Given the description of an element on the screen output the (x, y) to click on. 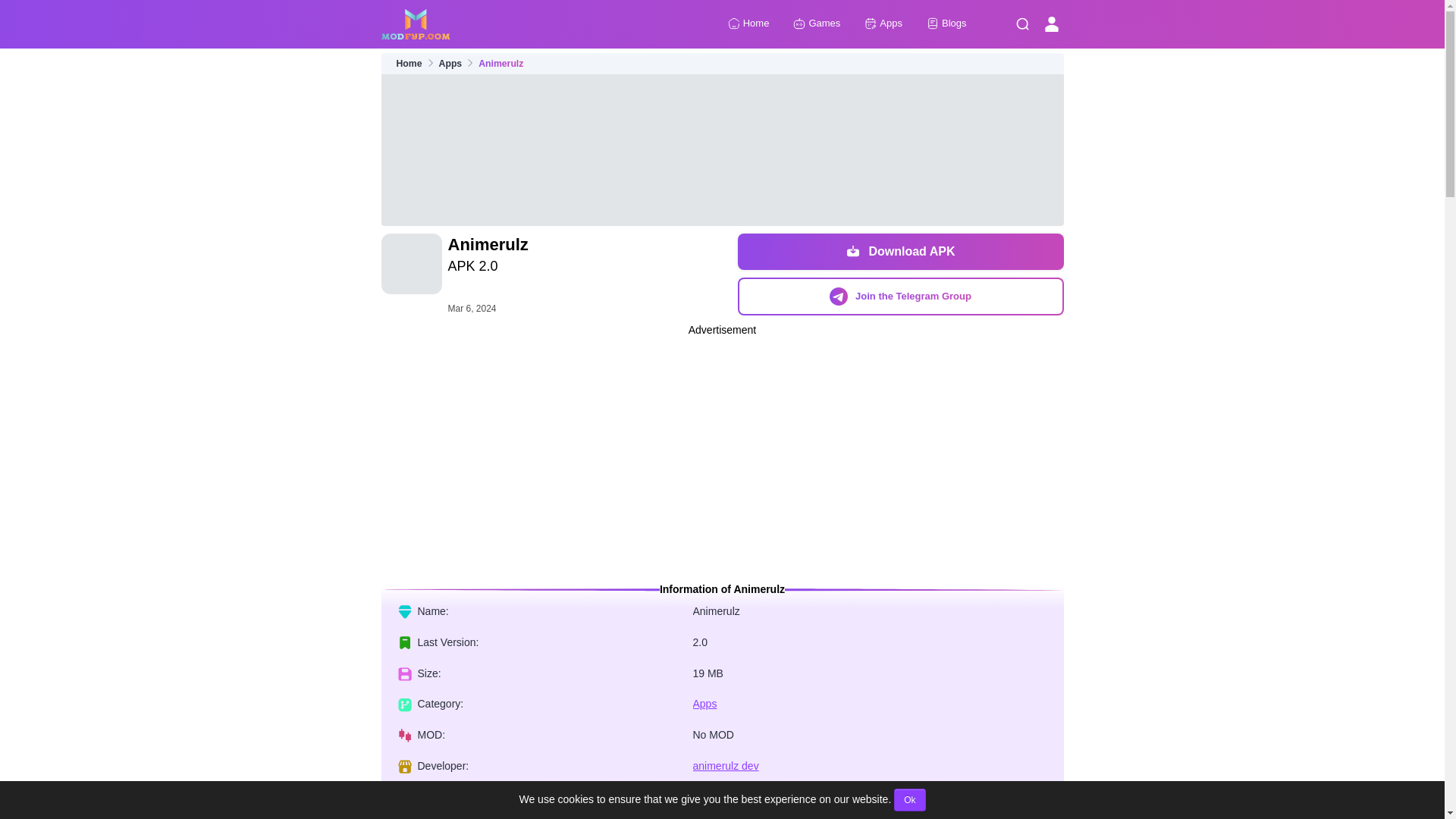
Blogs (946, 23)
Games (816, 23)
Home (409, 63)
Home (749, 23)
Join the Telegram Group (899, 296)
Apps (705, 703)
Apps (883, 23)
Games (816, 23)
animerulz dev (725, 766)
